Given the description of an element on the screen output the (x, y) to click on. 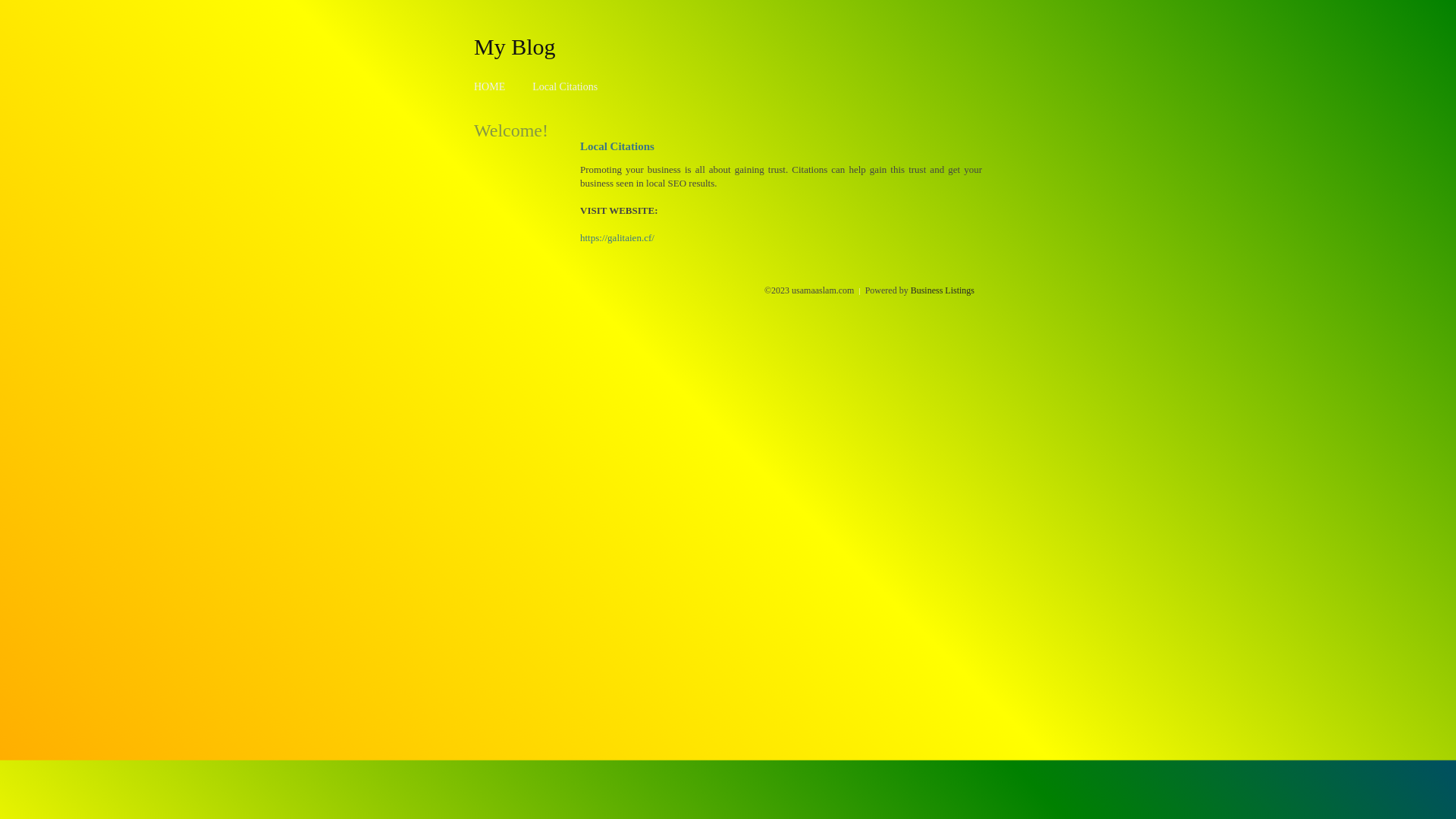
My Blog Element type: text (514, 46)
Local Citations Element type: text (564, 86)
https://galitaien.cf/ Element type: text (617, 237)
HOME Element type: text (489, 86)
Business Listings Element type: text (942, 290)
